Given the description of an element on the screen output the (x, y) to click on. 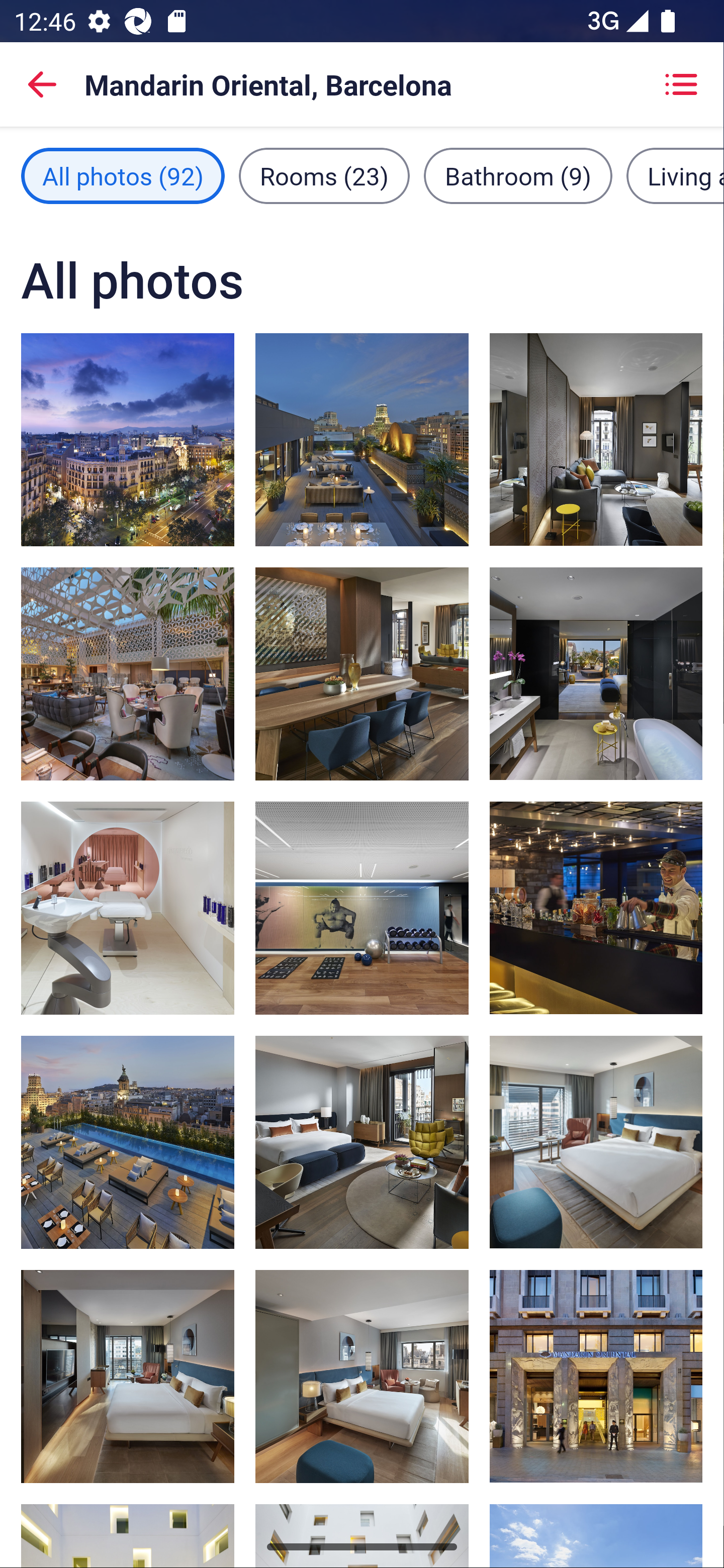
Back (42, 84)
Showing grid view (681, 84)
All photos filter, 92 images (122, 175)
Rooms filter, 23 images (323, 175)
Bathroom filter, 9 images (517, 175)
Aerial view, image (127, 438)
Hair salon, image (127, 907)
Gym, image (361, 907)
Bar (on property), image (595, 907)
Bar (on property), image (127, 1142)
Bar (on property), image (361, 1142)
Exterior, image (595, 1376)
